Given the description of an element on the screen output the (x, y) to click on. 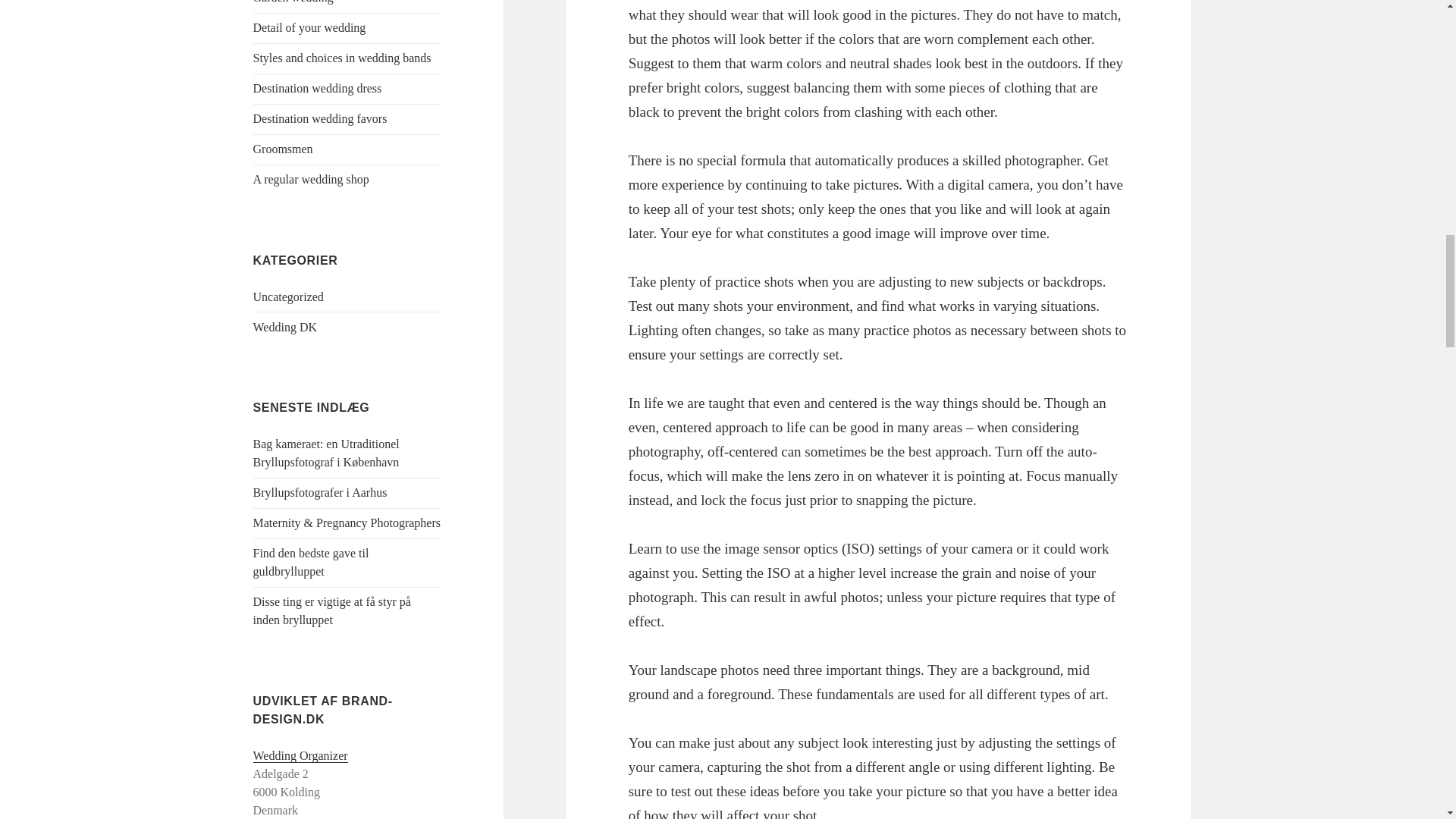
Detail of your wedding (309, 27)
Styles and choices in wedding bands (341, 57)
Garden wedding (293, 2)
